Given the description of an element on the screen output the (x, y) to click on. 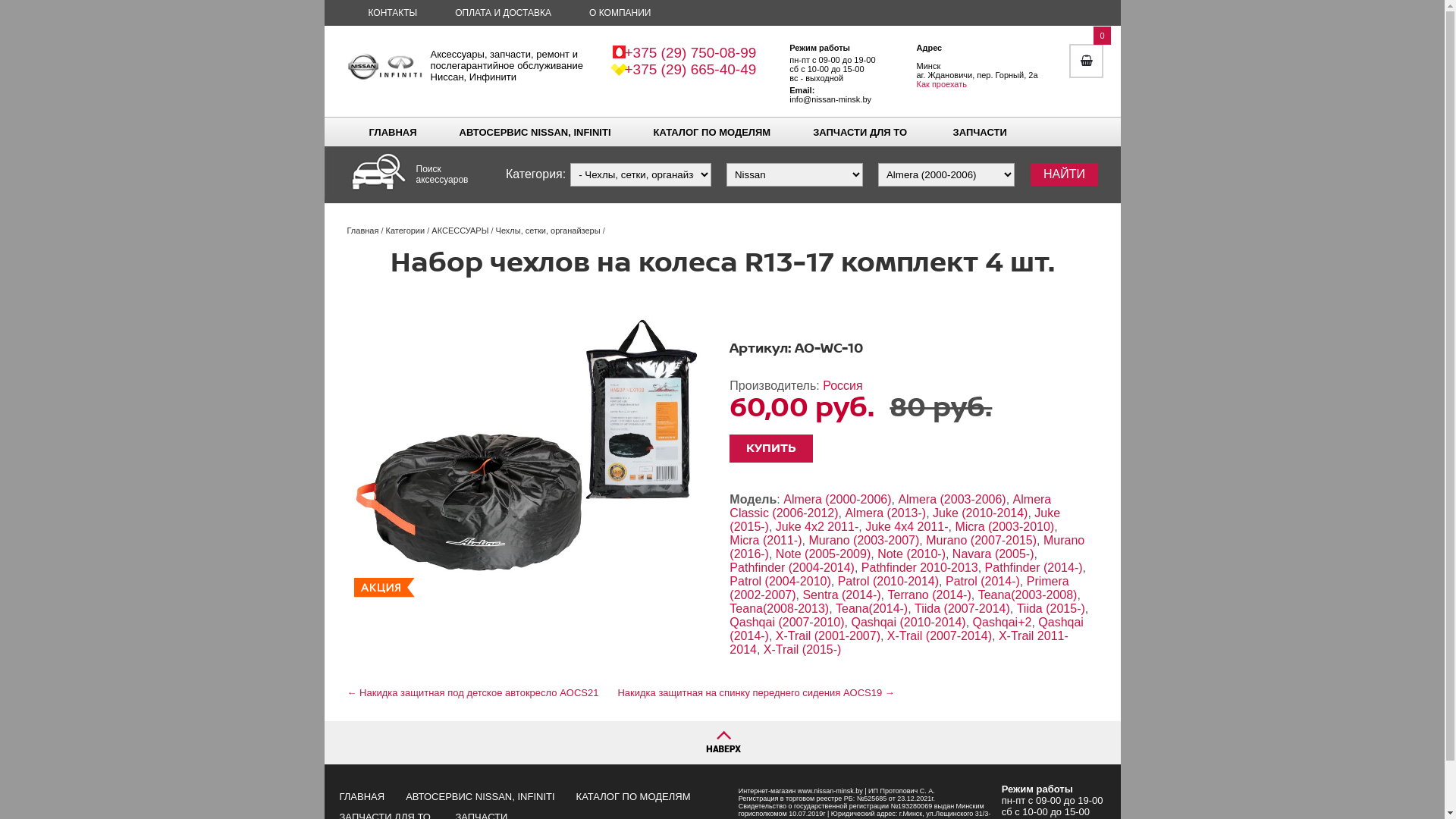
Qashqai+2 Element type: text (1002, 621)
Pathfinder (2004-2014) Element type: text (791, 567)
Juke (2015-) Element type: text (894, 519)
Note (2010-) Element type: text (911, 553)
X-Trail (2001-2007) Element type: text (827, 635)
Navara (2005-) Element type: text (993, 553)
Micra (2003-2010) Element type: text (1004, 526)
Murano (2003-2007) Element type: text (863, 539)
Qashqai (2010-2014) Element type: text (907, 621)
Teana(2008-2013) Element type: text (778, 608)
0 Element type: text (1086, 40)
Almera (2013-) Element type: text (884, 512)
Qashqai (2007-2010) Element type: text (786, 621)
+375 (29) 750-08-99 Element type: text (690, 52)
Patrol (2010-2014) Element type: text (887, 580)
Murano (2007-2015) Element type: text (980, 539)
Tiida (2007-2014) Element type: text (962, 608)
Teana(2014-) Element type: text (871, 608)
X-Trail (2015-) Element type: text (802, 649)
Juke 4x2 2011- Element type: text (816, 526)
Terrano (2014-) Element type: text (928, 594)
Juke (2010-2014) Element type: text (979, 512)
Almera (2000-2006) Element type: text (837, 498)
Almera (2003-2006) Element type: text (951, 498)
Juke 4x4 2011- Element type: text (906, 526)
Note (2005-2009) Element type: text (822, 553)
Sentra (2014-) Element type: text (841, 594)
Pathfinder (2014-) Element type: text (1033, 567)
Qashqai (2014-) Element type: text (906, 628)
+375 (29) 665-40-49 Element type: text (690, 69)
X-Trail 2011-2014 Element type: text (898, 642)
Patrol (2004-2010) Element type: text (779, 580)
Murano (2016-) Element type: text (906, 546)
Teana(2003-2008) Element type: text (1027, 594)
X-Trail (2007-2014) Element type: text (939, 635)
Primera (2002-2007) Element type: text (898, 587)
Tiida (2015-) Element type: text (1050, 608)
Micra (2011-) Element type: text (765, 539)
Pathfinder 2010-2013 Element type: text (919, 567)
Almera Classic (2006-2012) Element type: text (890, 505)
Patrol (2014-) Element type: text (982, 580)
